Given the description of an element on the screen output the (x, y) to click on. 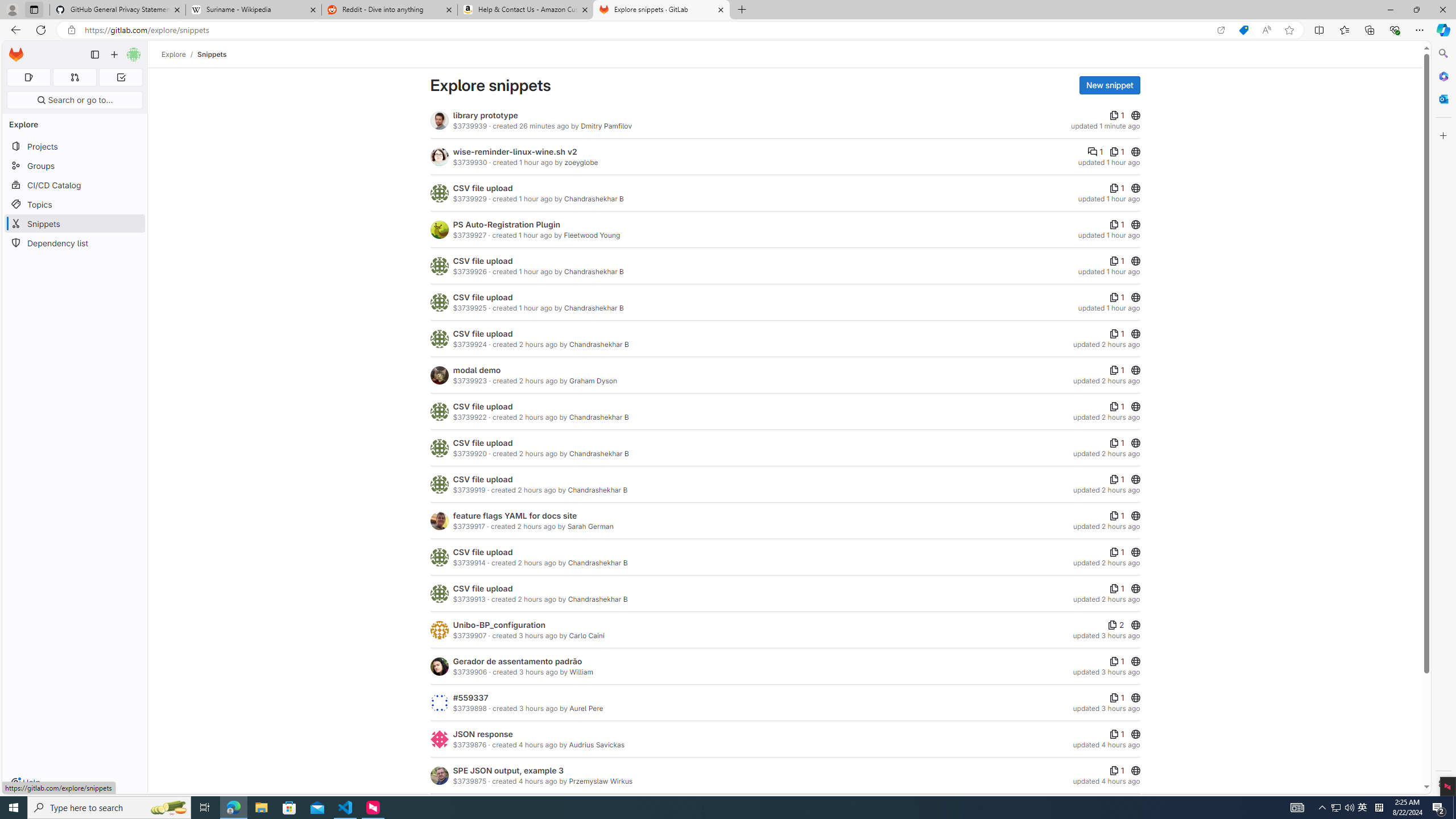
PS Auto-Registration Plugin (506, 224)
Audrius Savickas (596, 744)
New snippet (1109, 85)
Graham Dyson (593, 380)
Class: s16 gl-align-middle (1113, 770)
Open in app (1220, 29)
